Given the description of an element on the screen output the (x, y) to click on. 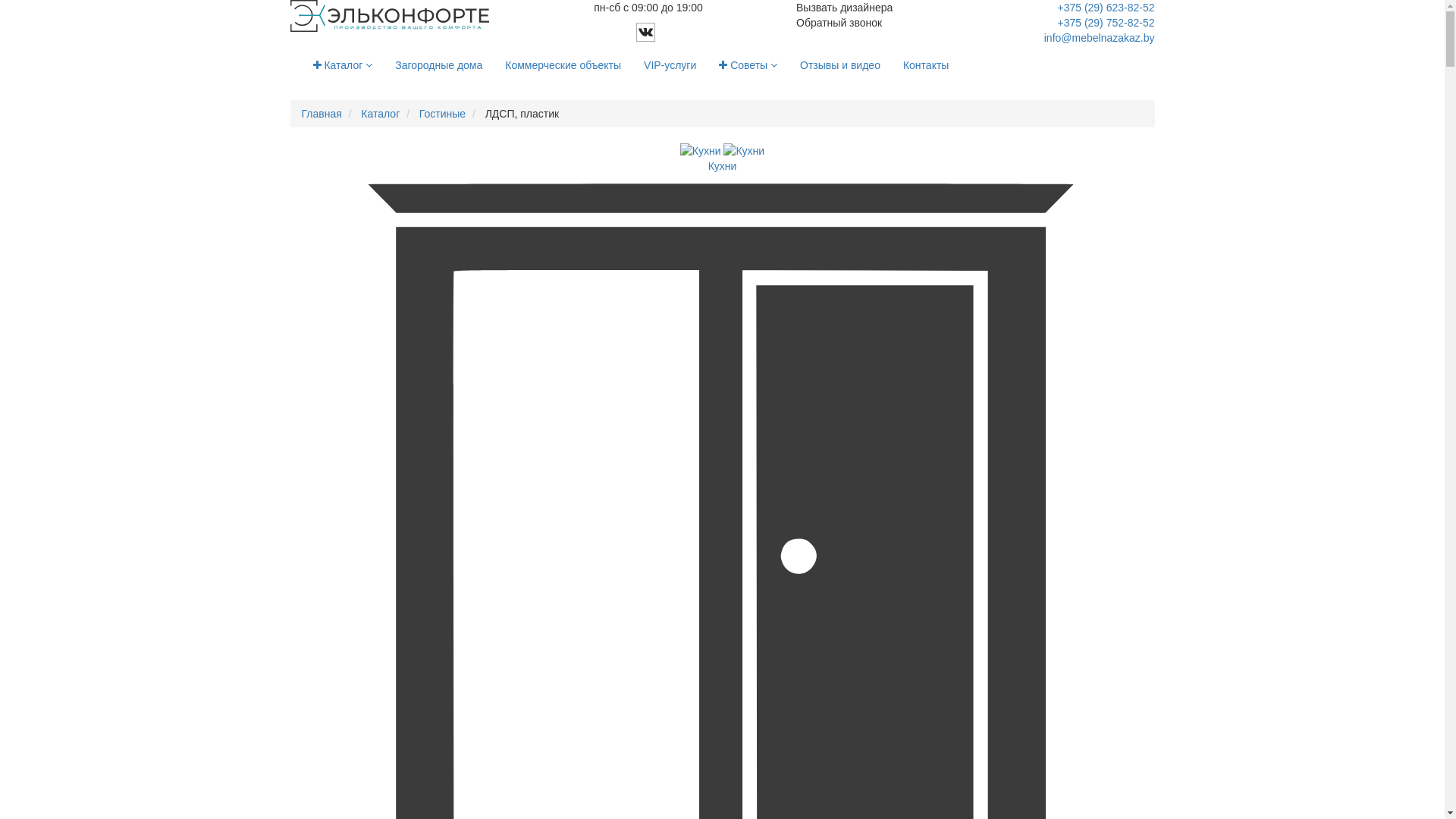
info@mebelnazakaz.by Element type: text (1099, 37)
+375 (29) 623-82-52 Element type: text (1105, 7)
+375 (29) 752-82-52 Element type: text (1105, 22)
